Given the description of an element on the screen output the (x, y) to click on. 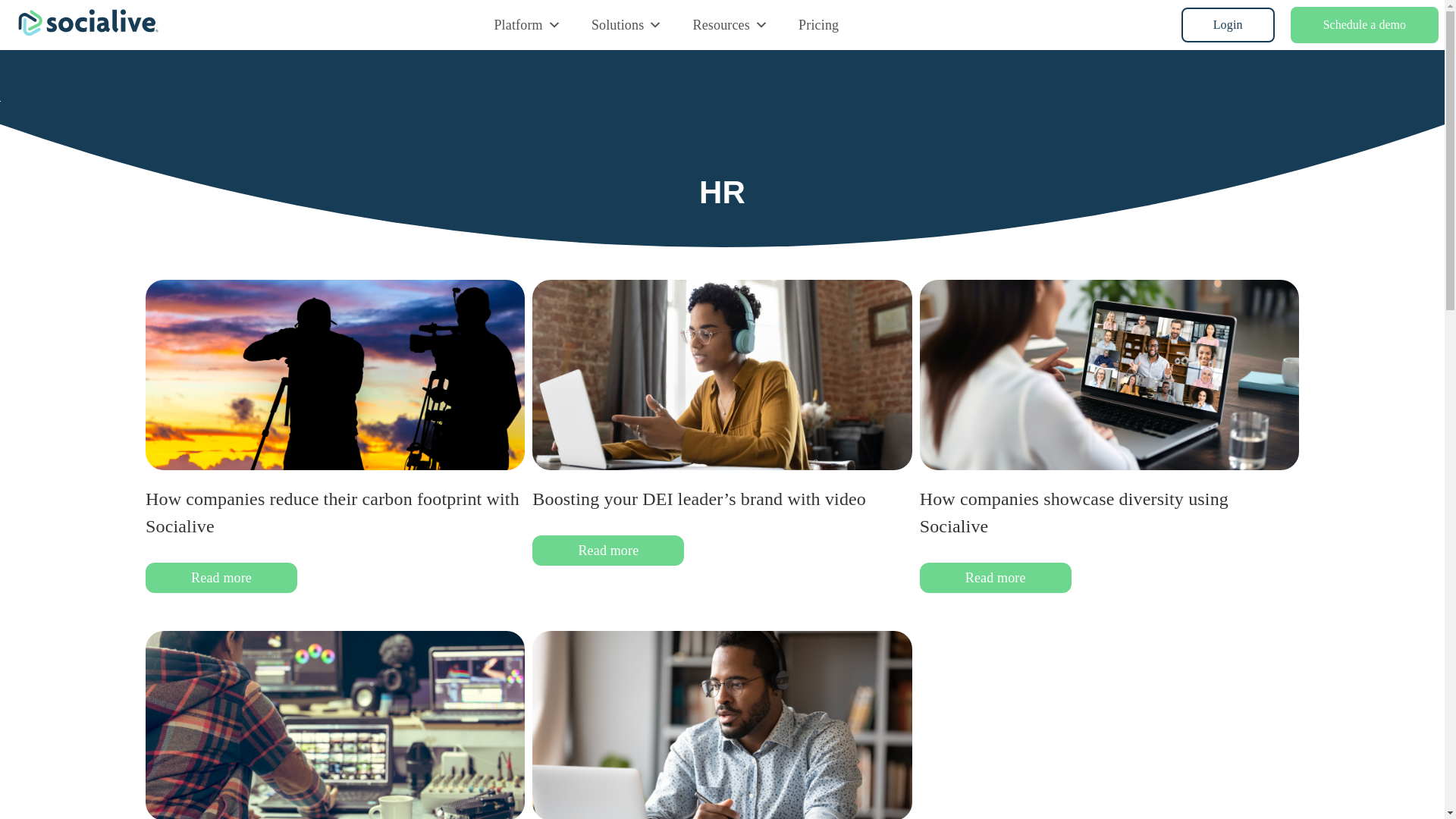
Solutions (627, 24)
Resources (730, 24)
How companies reduce their carbon footprint with Socialive (332, 512)
Pricing (818, 24)
Login (1227, 24)
Platform (526, 24)
How companies showcase diversity using Socialive (1074, 512)
Schedule a demo (1364, 24)
